Given the description of an element on the screen output the (x, y) to click on. 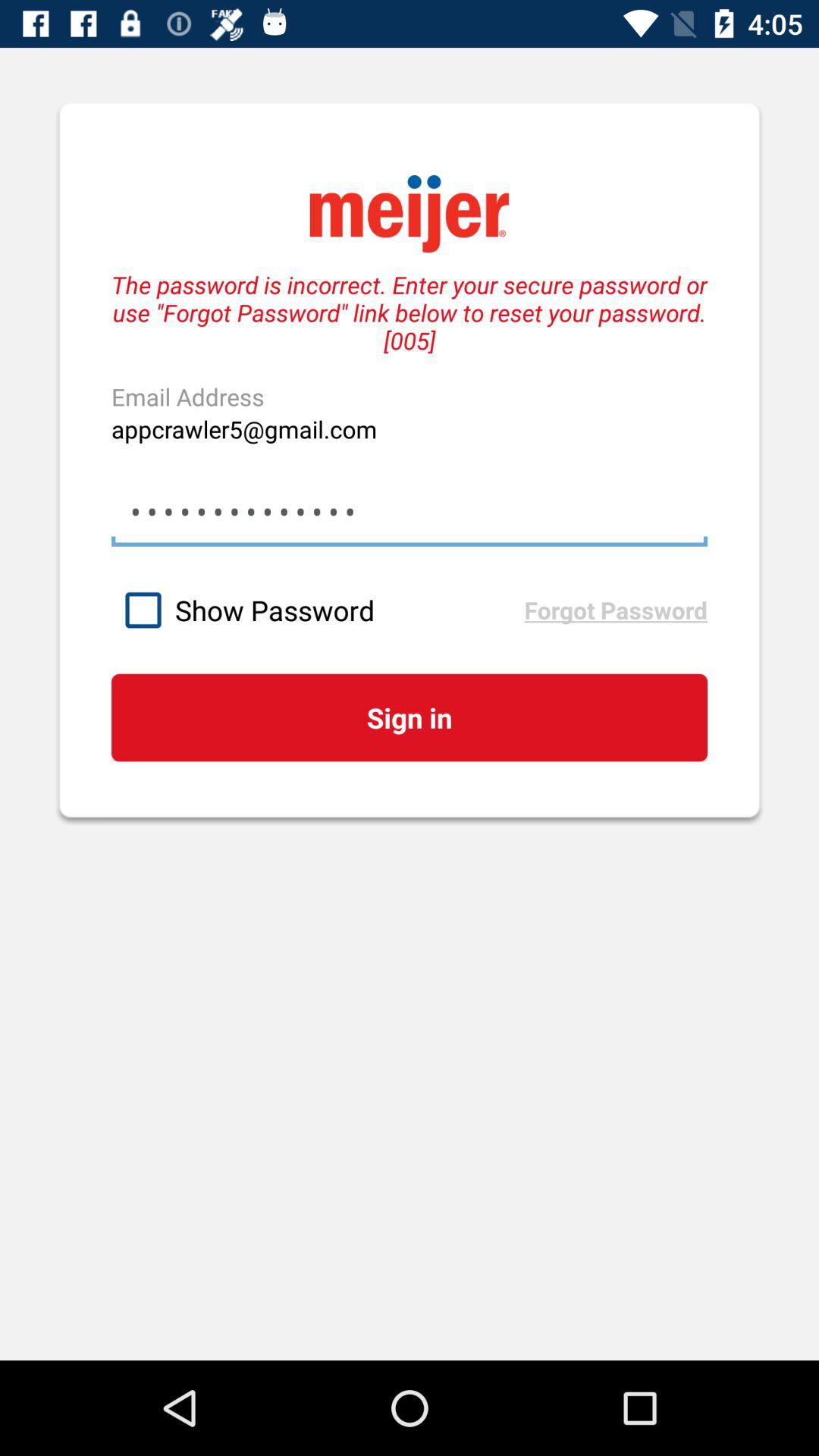
scroll to the appcrawler3116 item (409, 511)
